Given the description of an element on the screen output the (x, y) to click on. 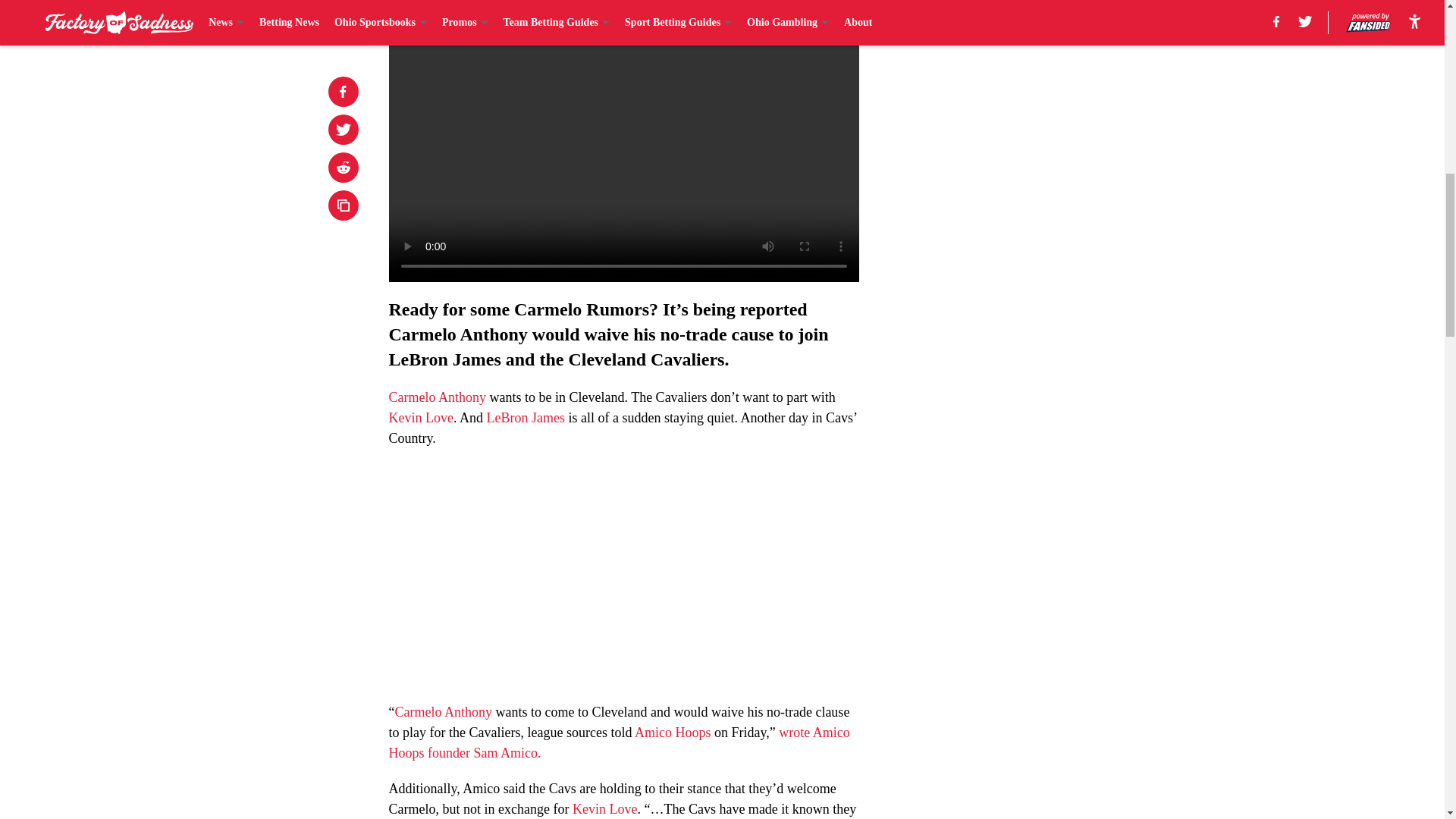
3rd party ad content (1047, 332)
3rd party ad content (1047, 113)
